Given the description of an element on the screen output the (x, y) to click on. 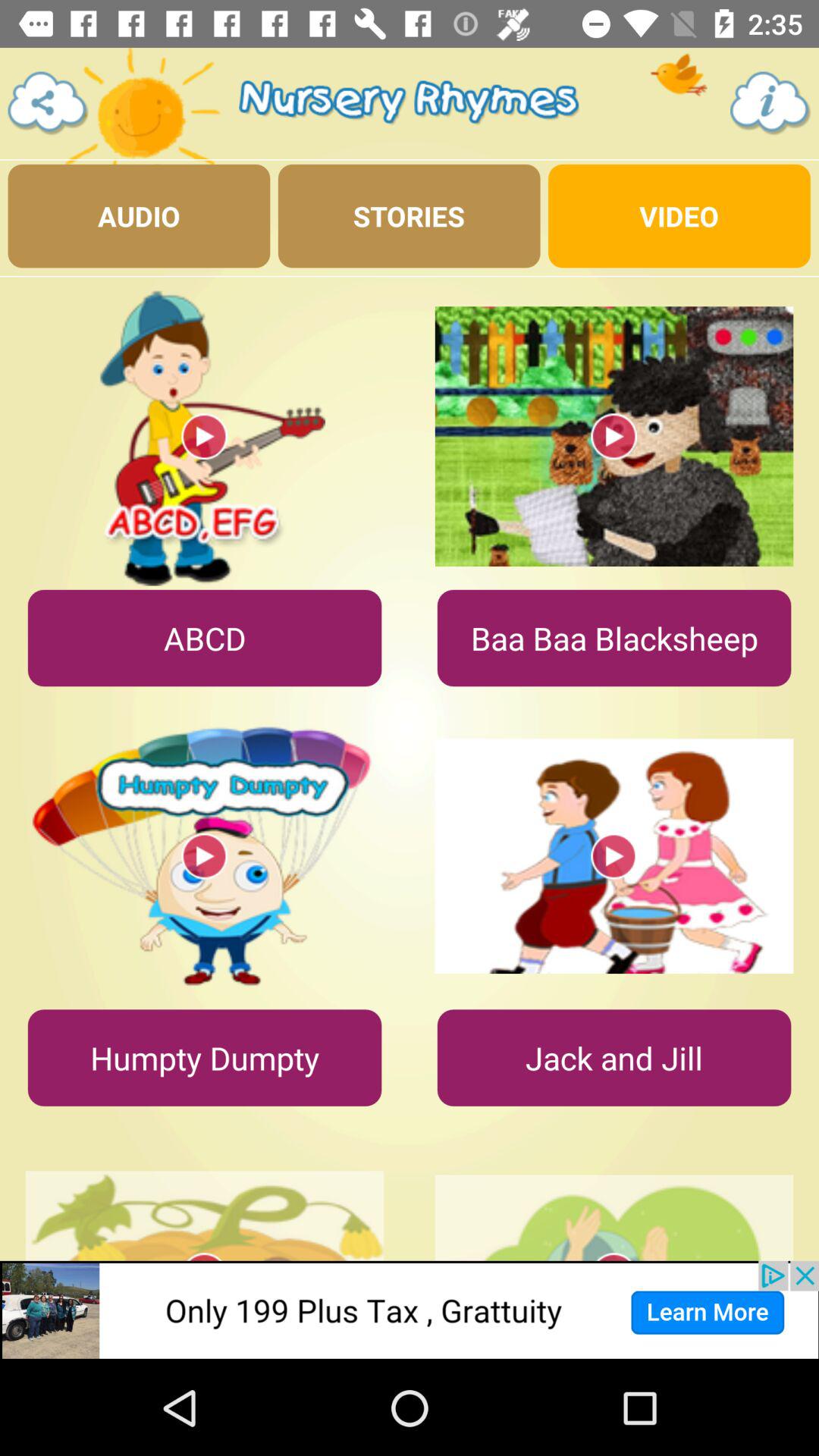
get information (770, 103)
